Given the description of an element on the screen output the (x, y) to click on. 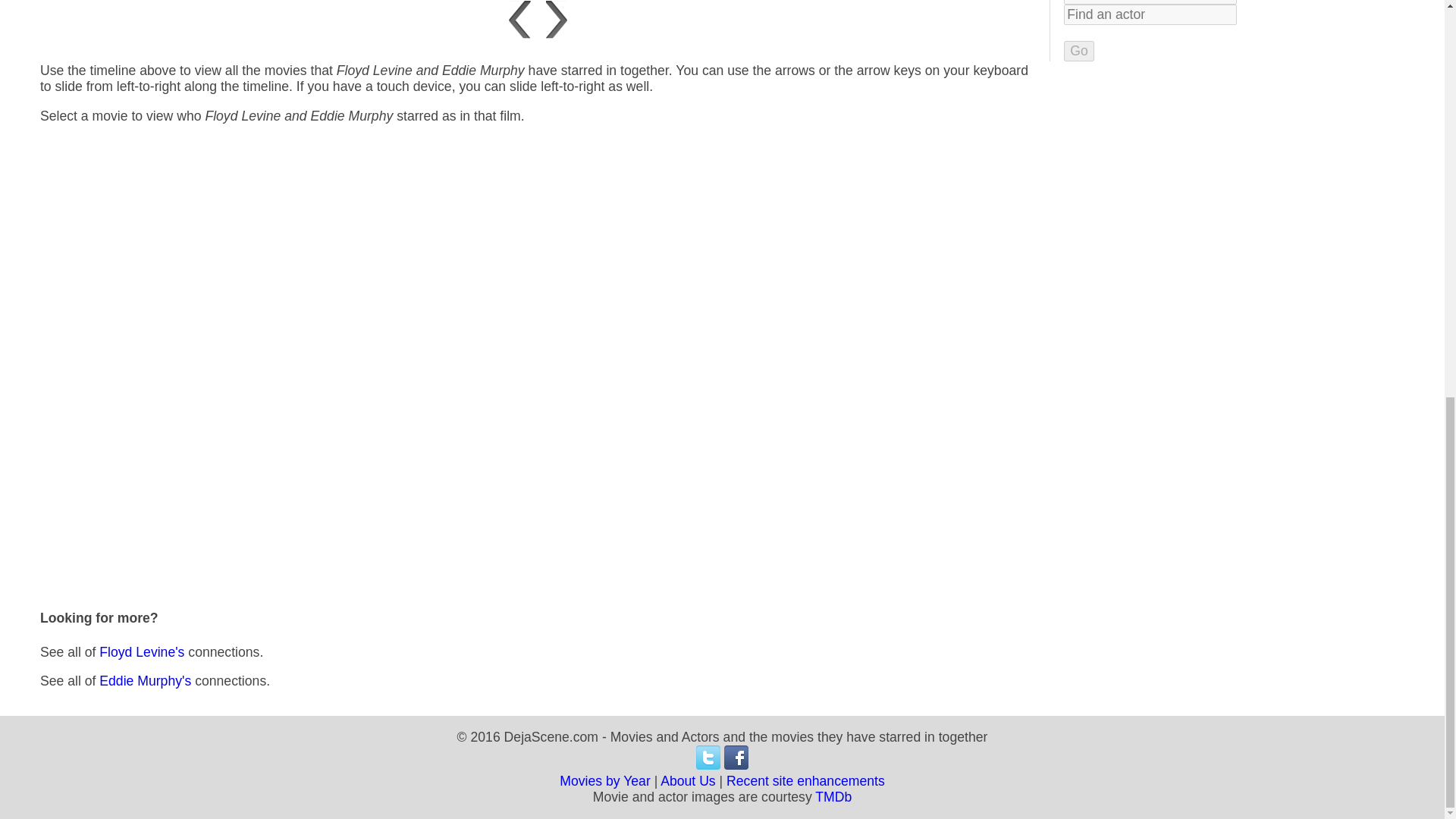
Go (1079, 50)
Recent site enhancements (805, 780)
Movies by Year (604, 780)
Floyd Levine's (141, 652)
Go (1079, 50)
TMDb (833, 796)
About Us (688, 780)
Eddie Murphy's (144, 680)
